Given the description of an element on the screen output the (x, y) to click on. 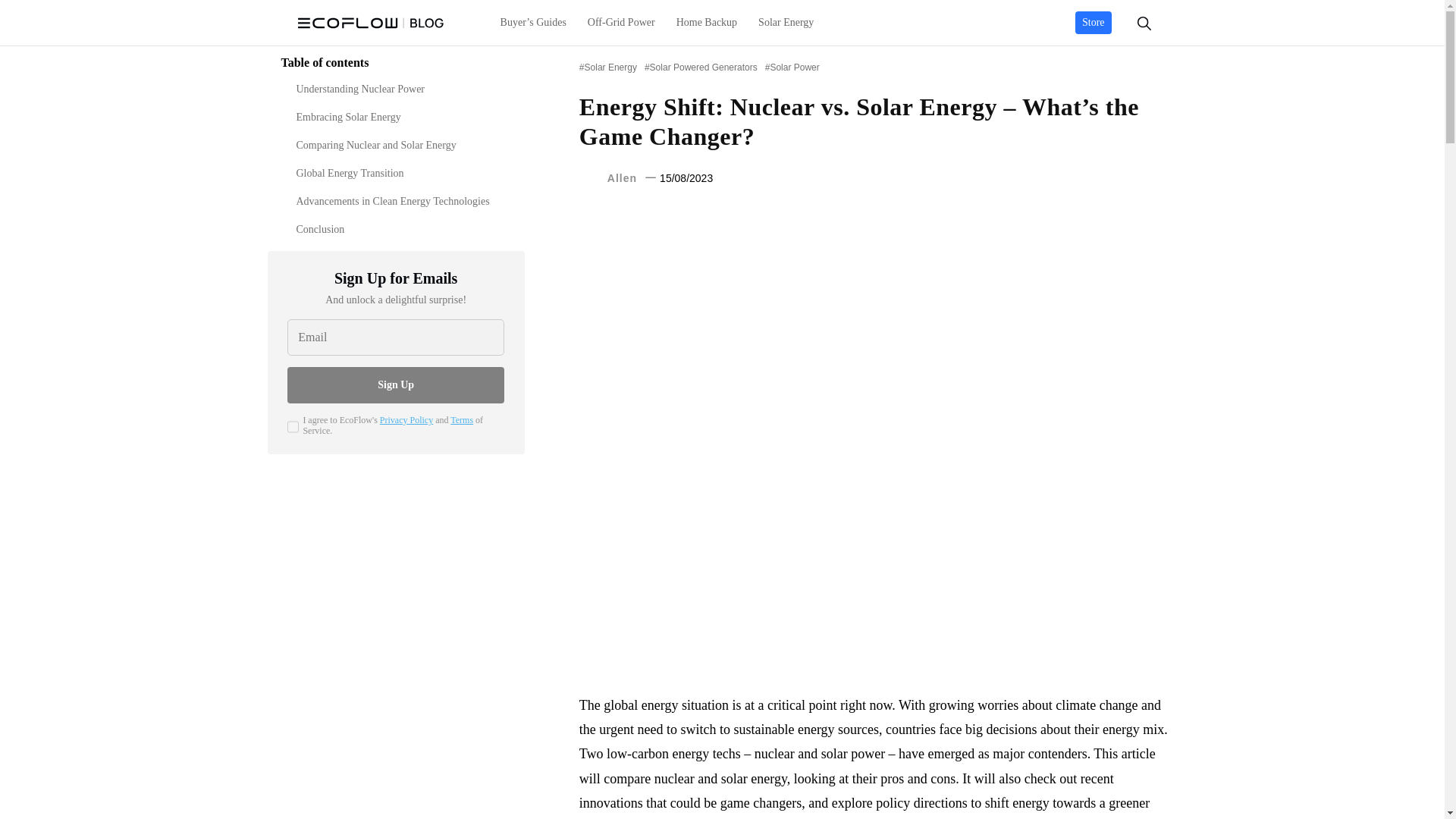
Home Backup (706, 22)
on (292, 426)
Ecoflow Official Blog (370, 23)
Sign Up (394, 384)
Off-Grid Power (620, 22)
